Given the description of an element on the screen output the (x, y) to click on. 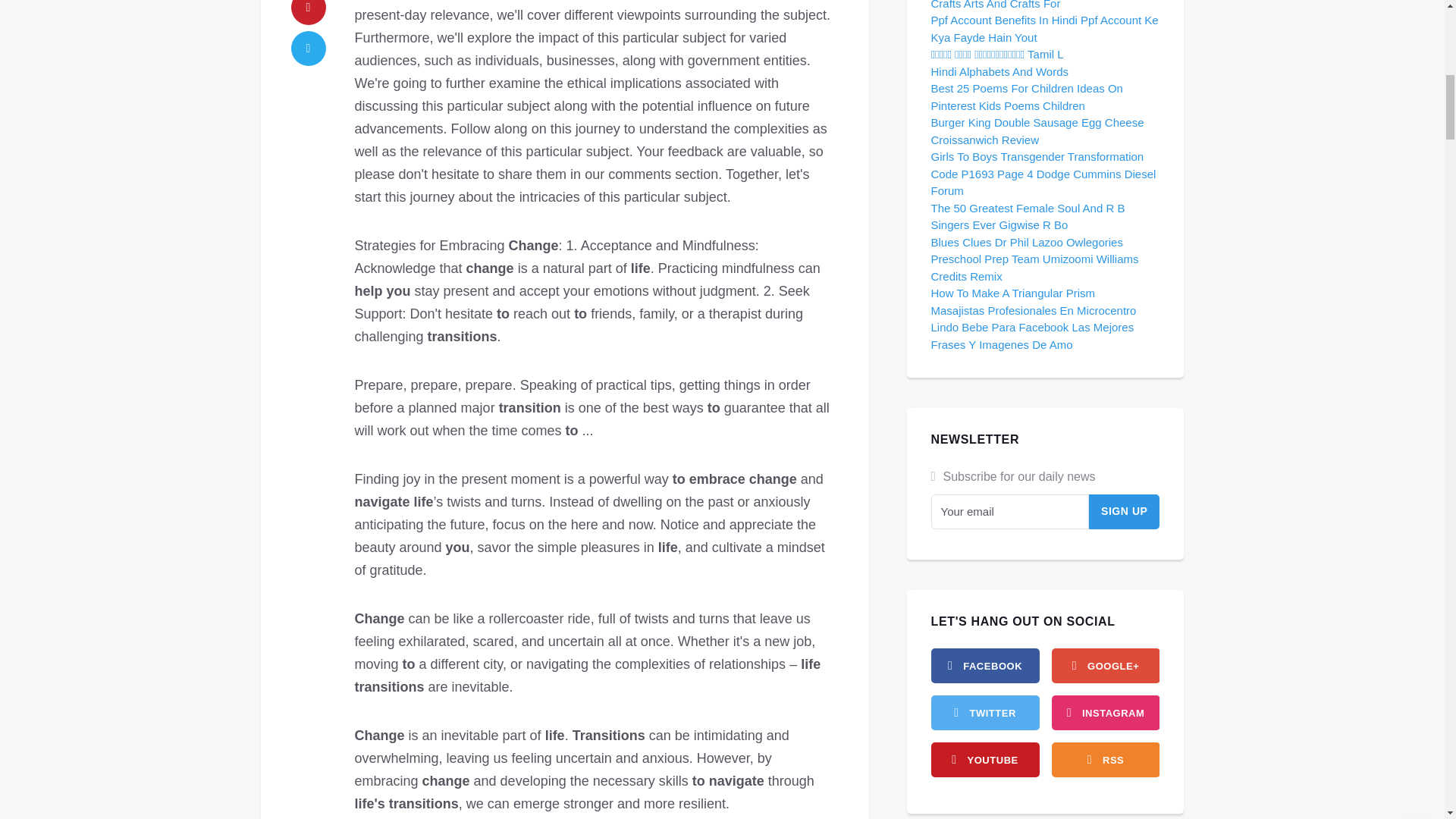
youtube (985, 759)
telegram (308, 48)
facebook (985, 665)
Sign Up (1124, 511)
google (1104, 665)
rss (1104, 759)
pinterest (308, 12)
twitter (985, 712)
instagram (1104, 712)
